Given the description of an element on the screen output the (x, y) to click on. 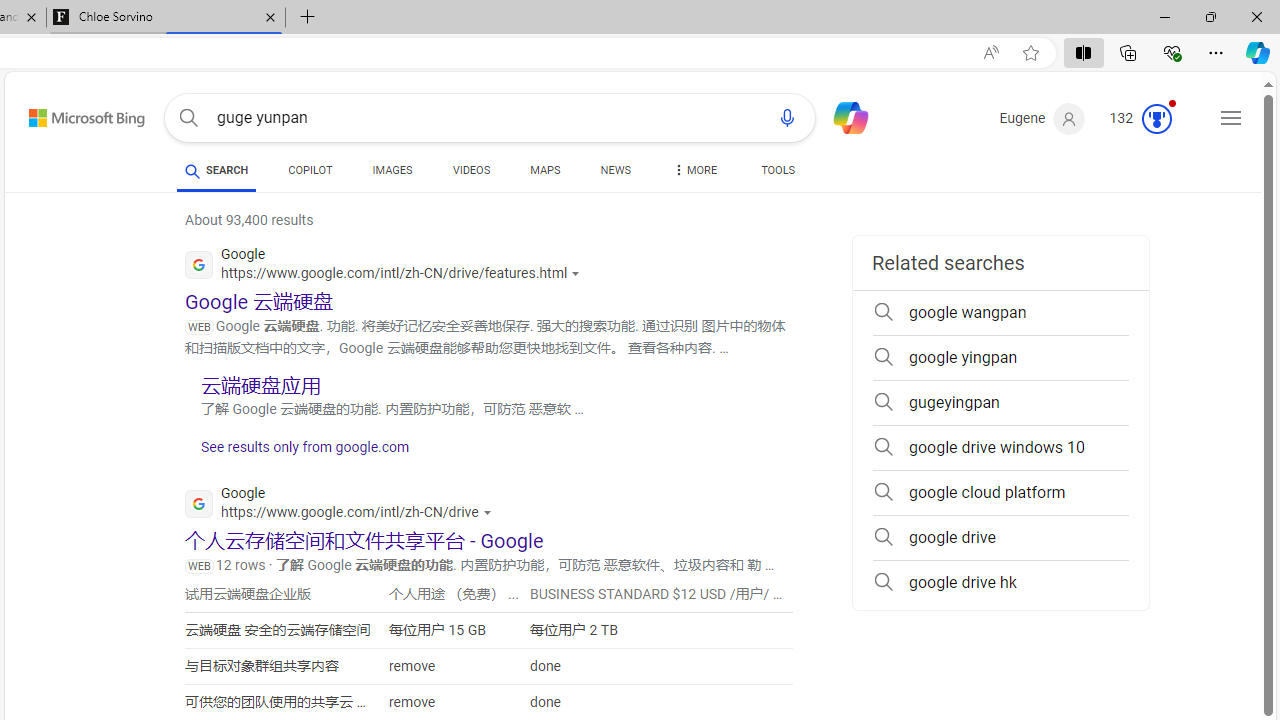
Dropdown Menu (693, 170)
Eugene (1041, 119)
google drive (1000, 538)
SEARCH (216, 170)
Chat (842, 116)
Skip to content (65, 111)
Settings and quick links (1231, 117)
MORE (693, 173)
SEARCH (216, 170)
Chloe Sorvino (166, 17)
Back to Bing search (74, 113)
